Given the description of an element on the screen output the (x, y) to click on. 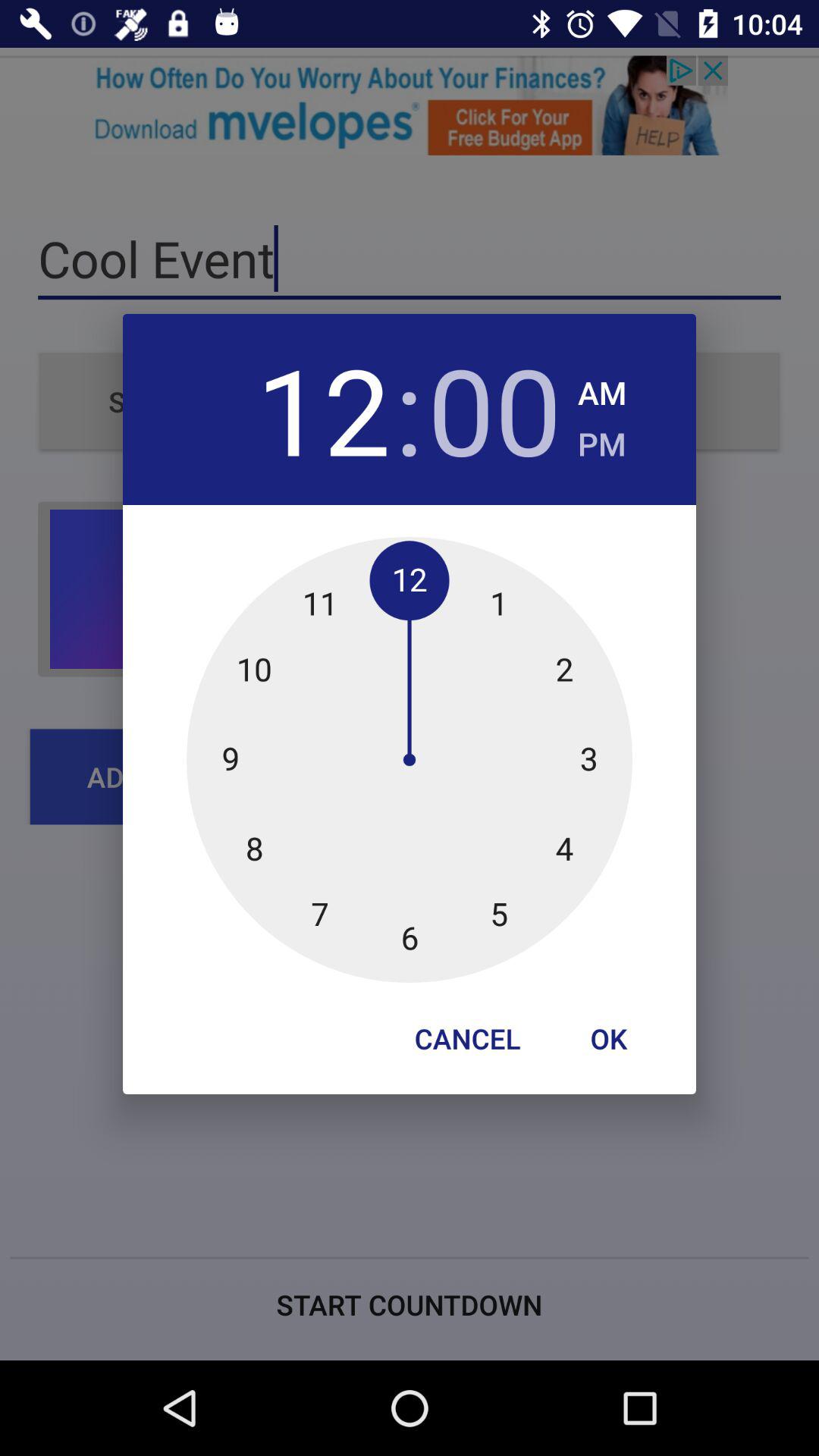
tap icon at the bottom right corner (608, 1038)
